Given the description of an element on the screen output the (x, y) to click on. 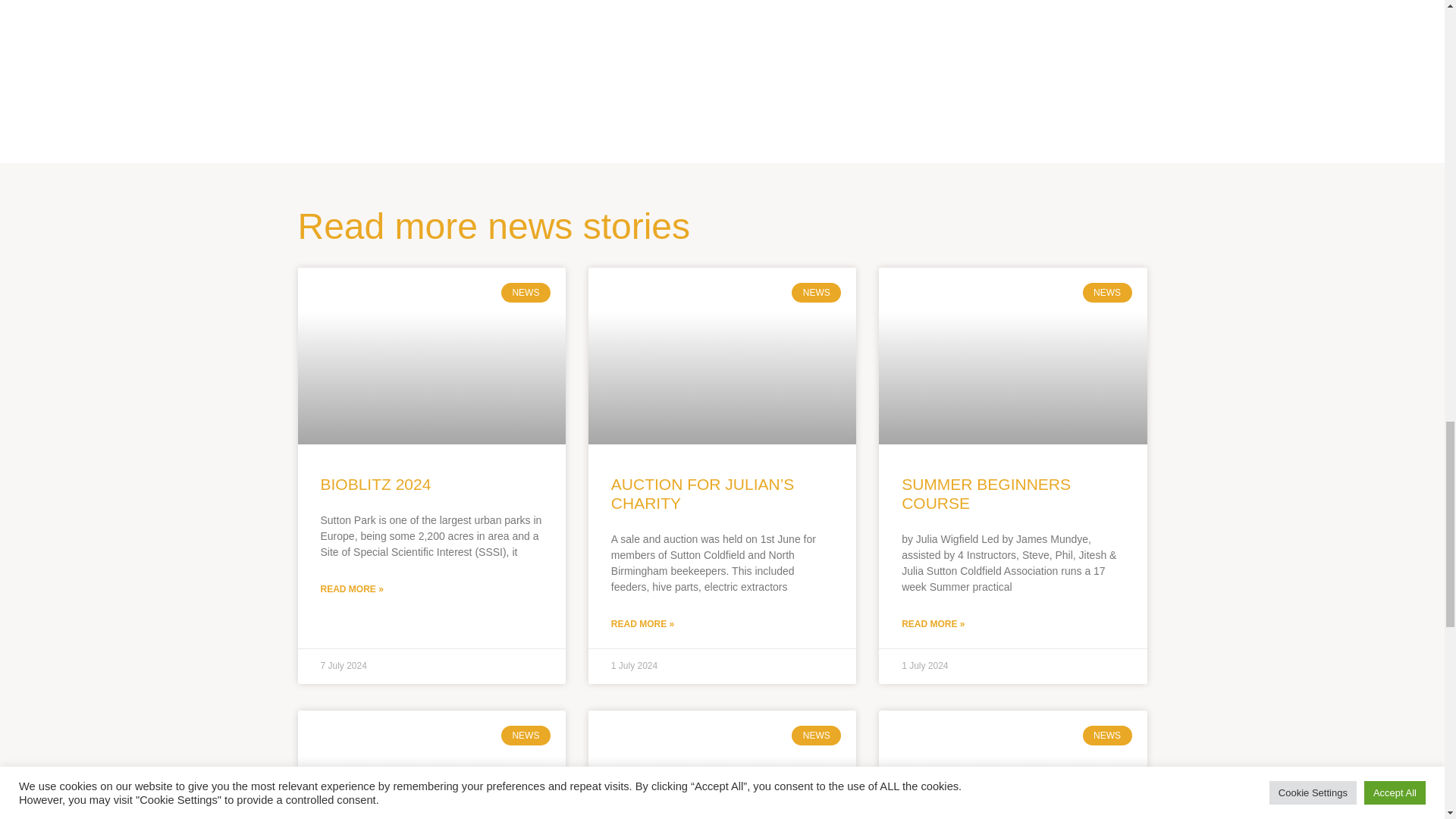
Summer BBQ 7 (508, 71)
Summer BBQ 8 (936, 71)
